Given the description of an element on the screen output the (x, y) to click on. 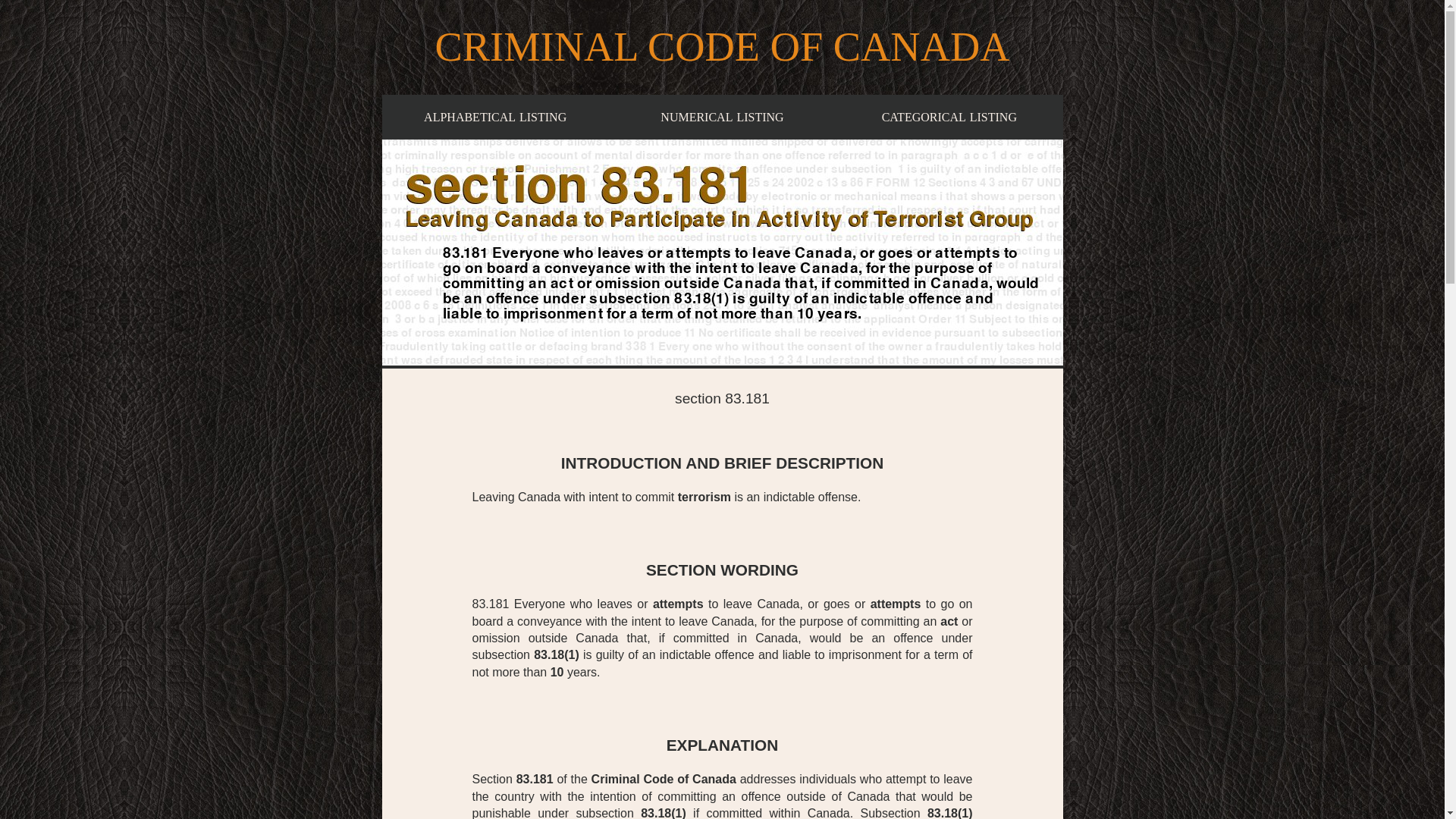
act (949, 621)
attempts (677, 603)
terrorism (704, 496)
10 (948, 117)
numerical guide to the Criminal Code of Canada (557, 671)
83.181 (721, 117)
categorical guide to the Criminal Code of Canada (721, 117)
alphabetical guide to the Criminal Code of Canada (494, 117)
The definition of the term  (534, 779)
Criminal Code of Canada (948, 117)
attempts (494, 117)
